Given the description of an element on the screen output the (x, y) to click on. 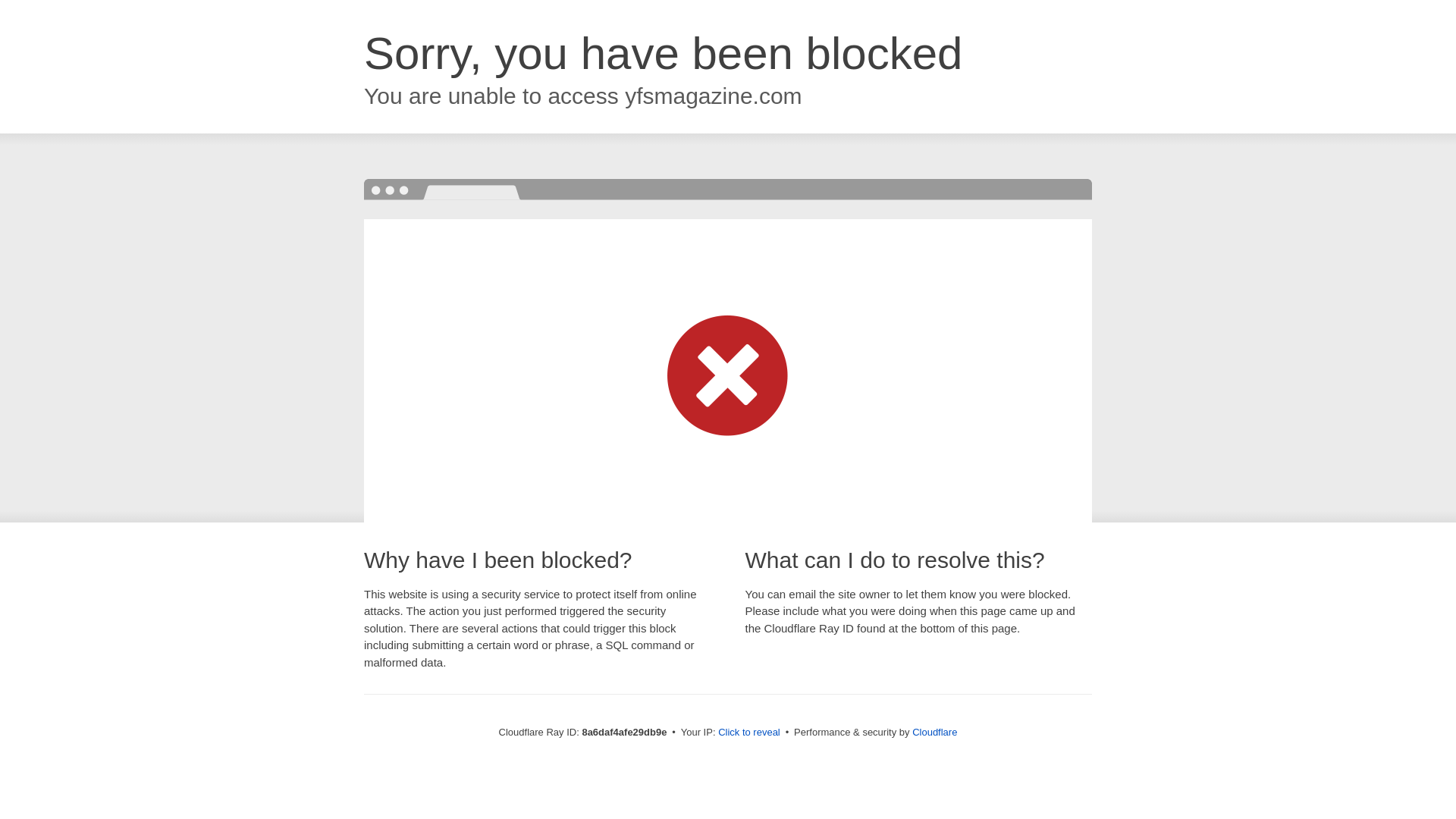
Cloudflare (934, 731)
Click to reveal (748, 732)
